Given the description of an element on the screen output the (x, y) to click on. 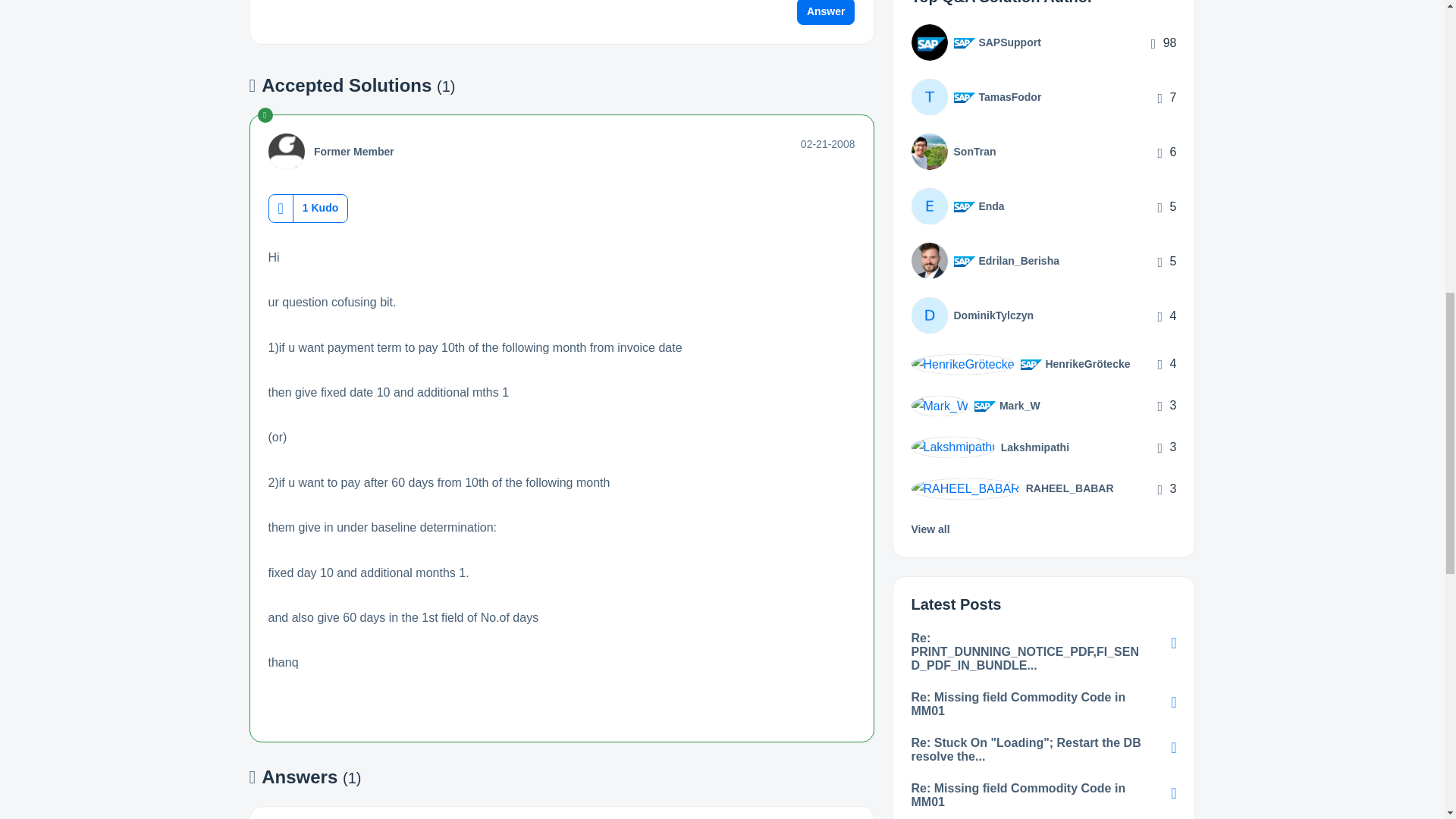
1 Kudo (320, 207)
Answer (826, 12)
Posted on (828, 143)
Click here to see who gave kudos to this post. (320, 207)
